Given the description of an element on the screen output the (x, y) to click on. 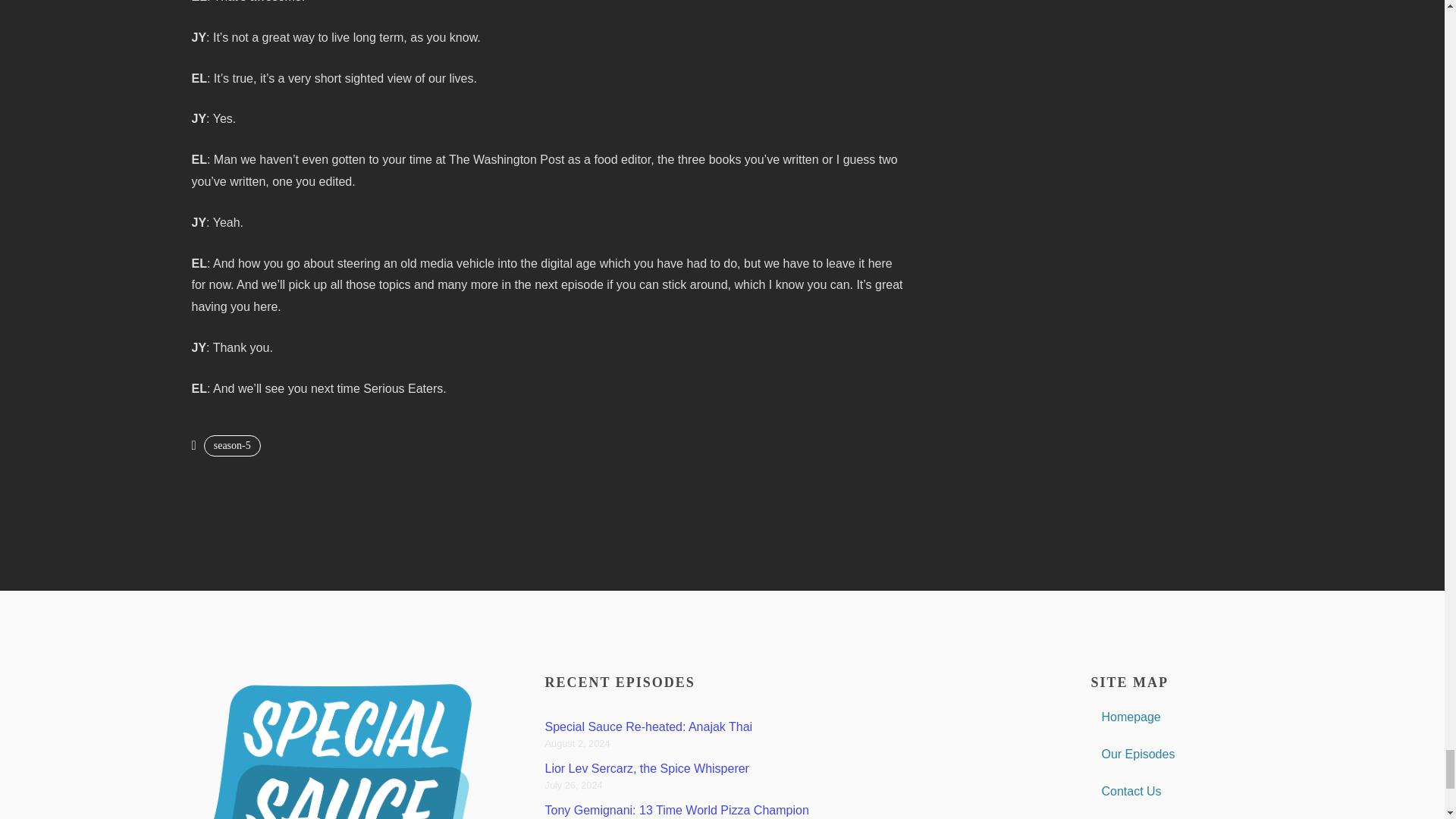
Special Sauce Re-heated: Anajak Thai (648, 726)
season-5 (231, 445)
Lior Lev Sercarz, the Spice Whisperer (646, 768)
Tony Gemignani: 13 Time World Pizza Champion (676, 809)
